Given the description of an element on the screen output the (x, y) to click on. 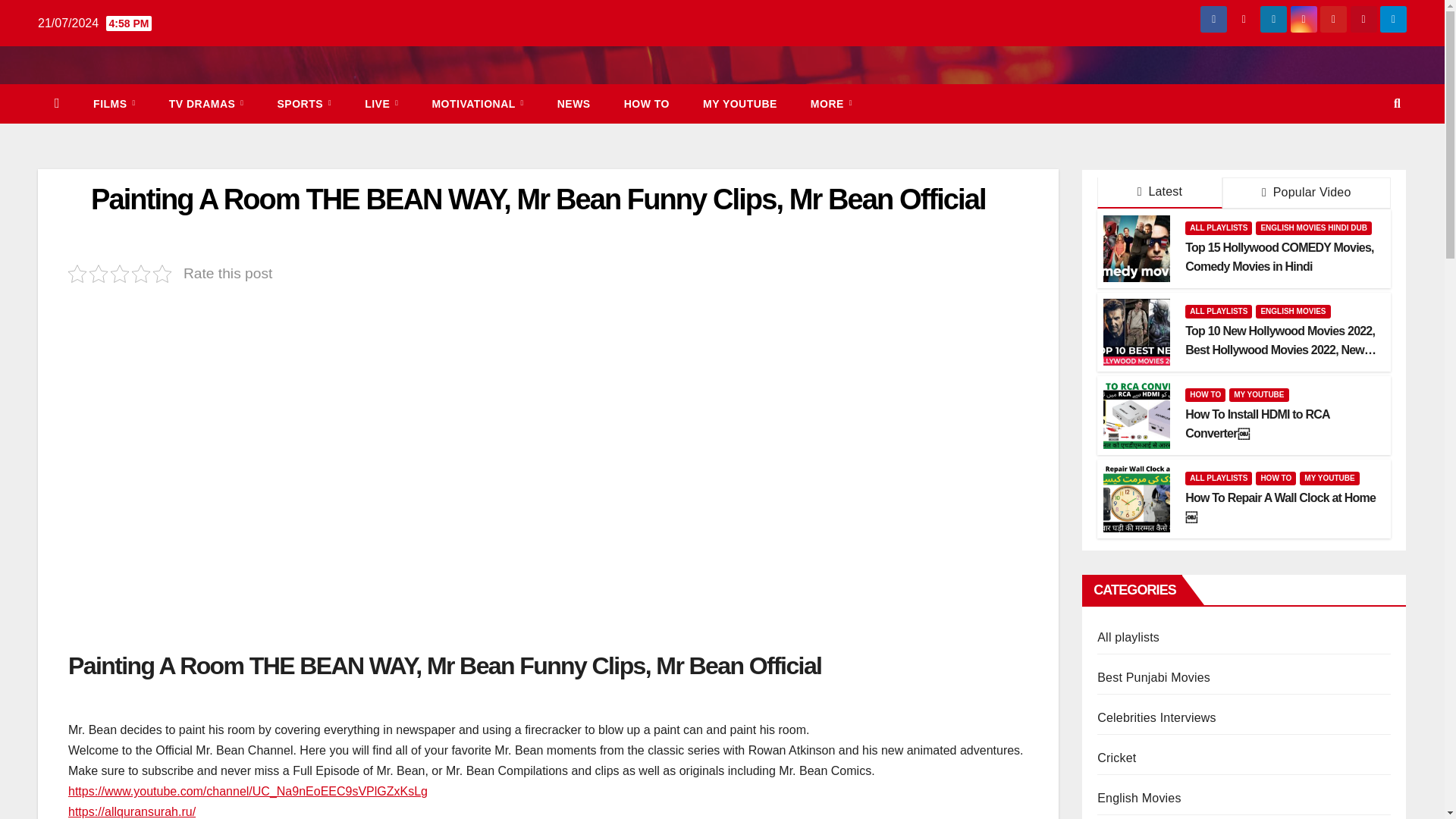
TV DRAMAS (206, 103)
MOTIVATIONAL (477, 103)
FILMS (114, 103)
FILMS (114, 103)
TV DRAMAS (206, 103)
LIVE (380, 103)
SPORTS (304, 103)
